Given the description of an element on the screen output the (x, y) to click on. 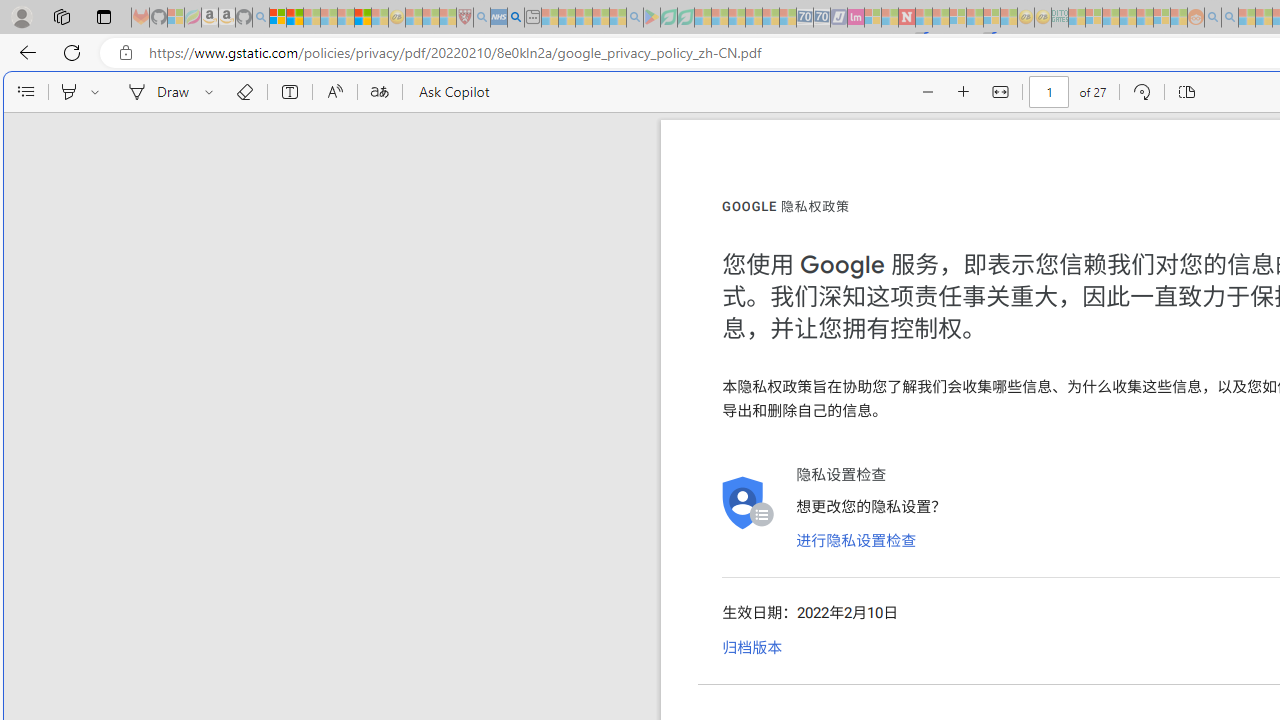
Select ink properties (212, 92)
Latest Politics News & Archive | Newsweek.com - Sleeping (906, 17)
14 Common Myths Debunked By Scientific Facts - Sleeping (940, 17)
utah sues federal government - Search (515, 17)
Cheap Hotels - Save70.com - Sleeping (821, 17)
Local - MSN - Sleeping (447, 17)
google - Search - Sleeping (634, 17)
The Weather Channel - MSN - Sleeping (311, 17)
NCL Adult Asthma Inhaler Choice Guideline - Sleeping (498, 17)
Microsoft-Report a Concern to Bing - Sleeping (175, 17)
